Given the description of an element on the screen output the (x, y) to click on. 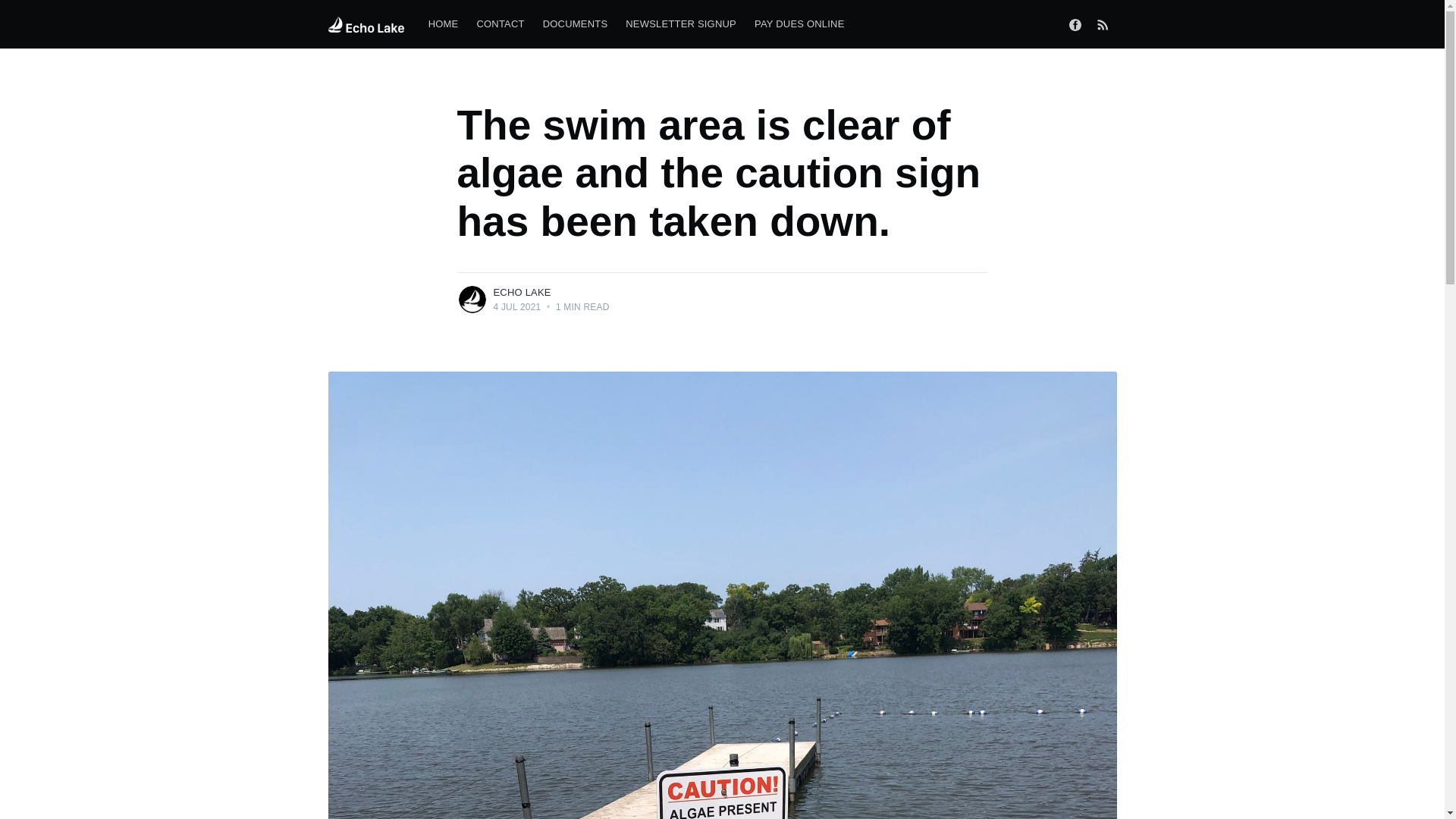
HOME (443, 24)
NEWSLETTER SIGNUP (680, 24)
CONTACT (499, 24)
DOCUMENTS (575, 24)
ECHO LAKE (521, 292)
PAY DUES ONLINE (799, 24)
